Given the description of an element on the screen output the (x, y) to click on. 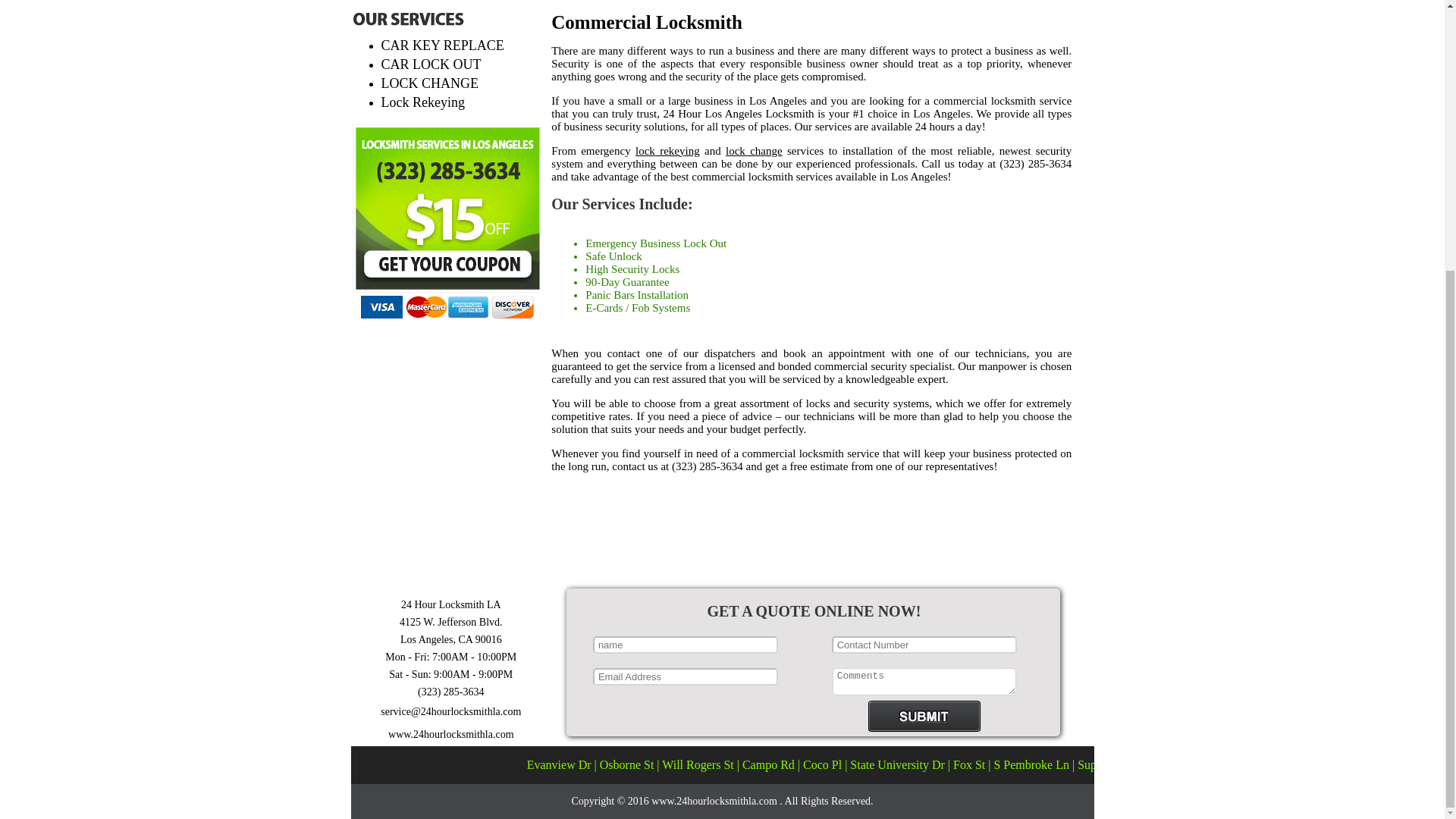
lock change (754, 150)
Lock Rekeying (422, 102)
Los Angeles Car Key Replace (441, 45)
CAR KEY REPLACE (441, 45)
www.24hourlocksmithla.com (450, 734)
Lock Rekeying in Los Angeles (667, 150)
Lock Change in Los Angeles (754, 150)
CAR LOCK OUT (430, 64)
Los Angeles Lock Change (429, 83)
LOCK CHANGE (429, 83)
